Given the description of an element on the screen output the (x, y) to click on. 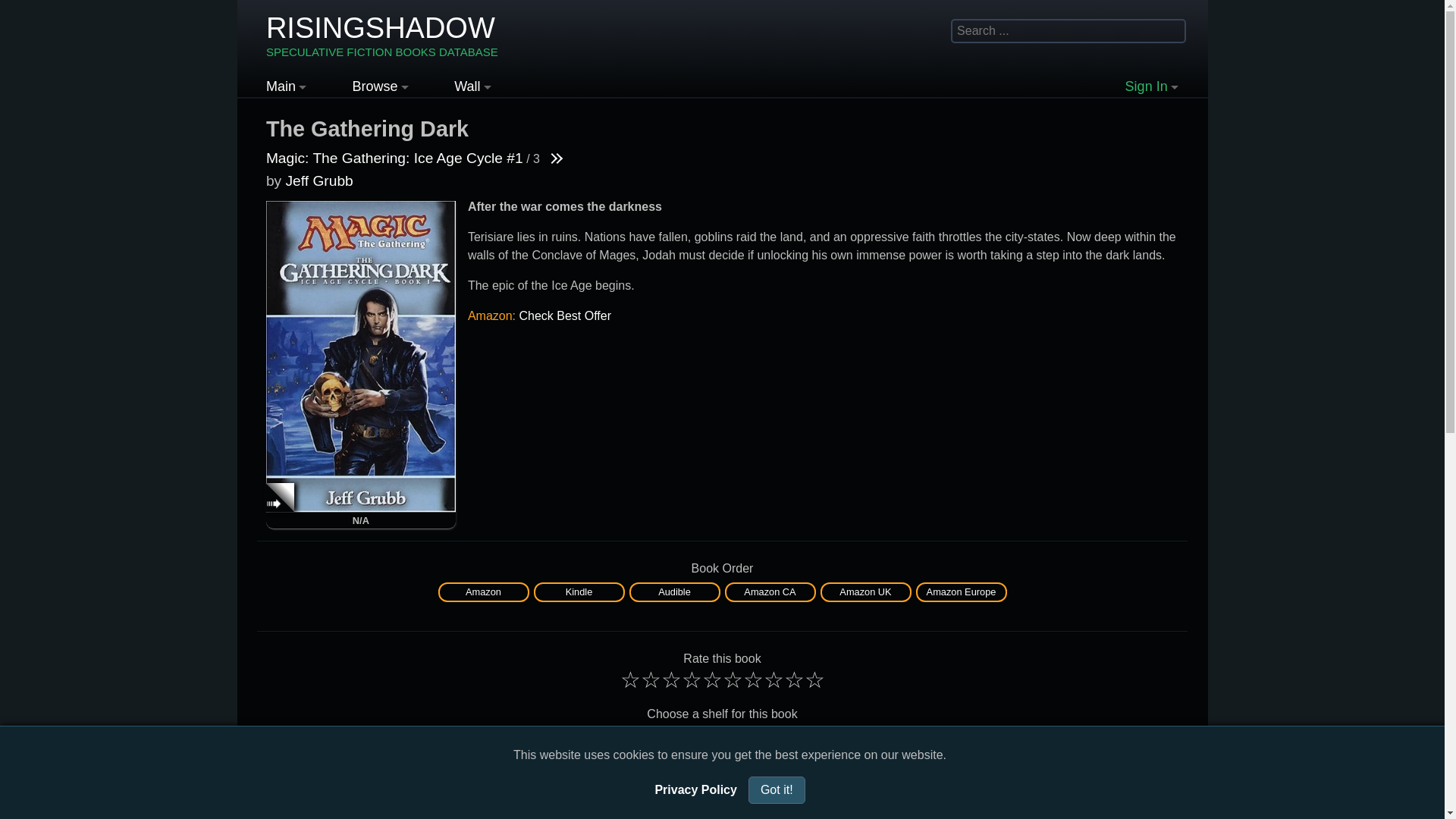
Owned (866, 737)
Read (483, 737)
Risingshadow (381, 36)
Kindle (578, 590)
Reading (579, 737)
Check Best Offer (564, 315)
Amazon (483, 591)
Amazon UK (866, 591)
Amazon CA (769, 590)
Amazon CA (770, 591)
Amazon (483, 590)
Amazon UK (864, 590)
Want to Read (674, 737)
Kindle (579, 591)
Want to Buy (770, 737)
